Given the description of an element on the screen output the (x, y) to click on. 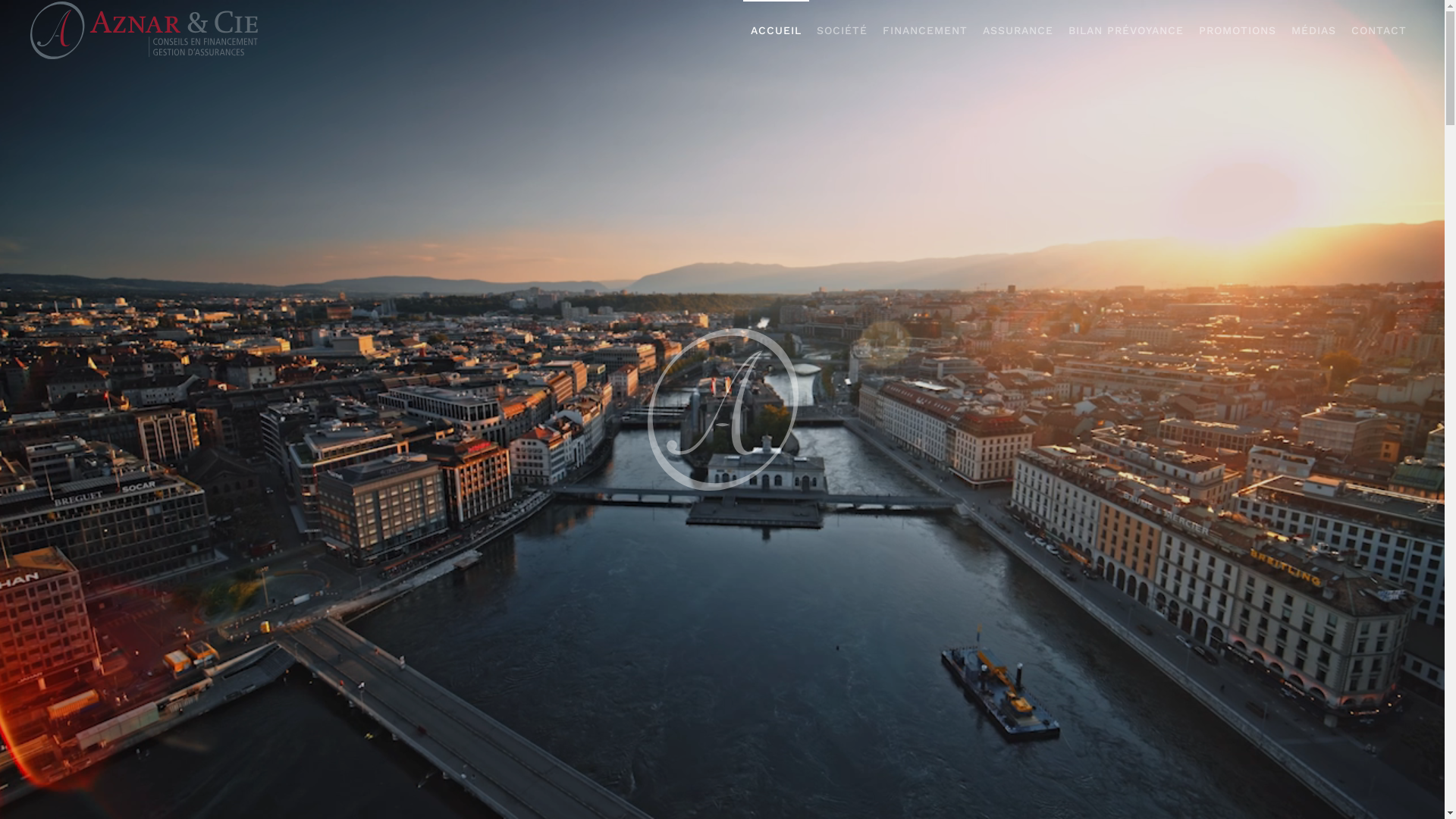
CONTACT Element type: text (1378, 30)
ASSURANCE Element type: text (1017, 30)
PROMOTIONS Element type: text (1237, 30)
ACCUEIL Element type: text (776, 30)
FINANCEMENT Element type: text (925, 30)
